Given the description of an element on the screen output the (x, y) to click on. 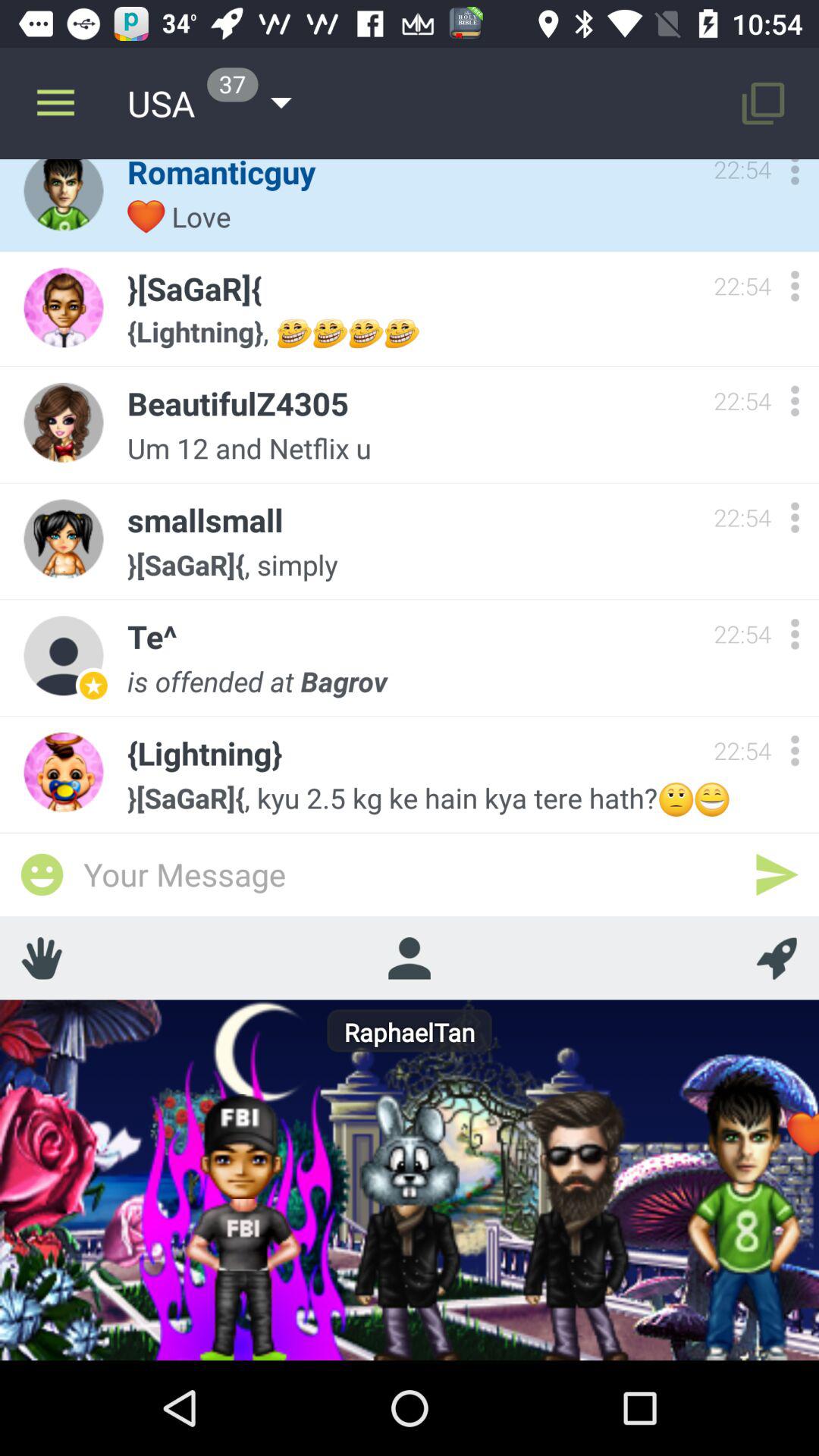
click the item below the sagar kyu 2 (409, 873)
